Given the description of an element on the screen output the (x, y) to click on. 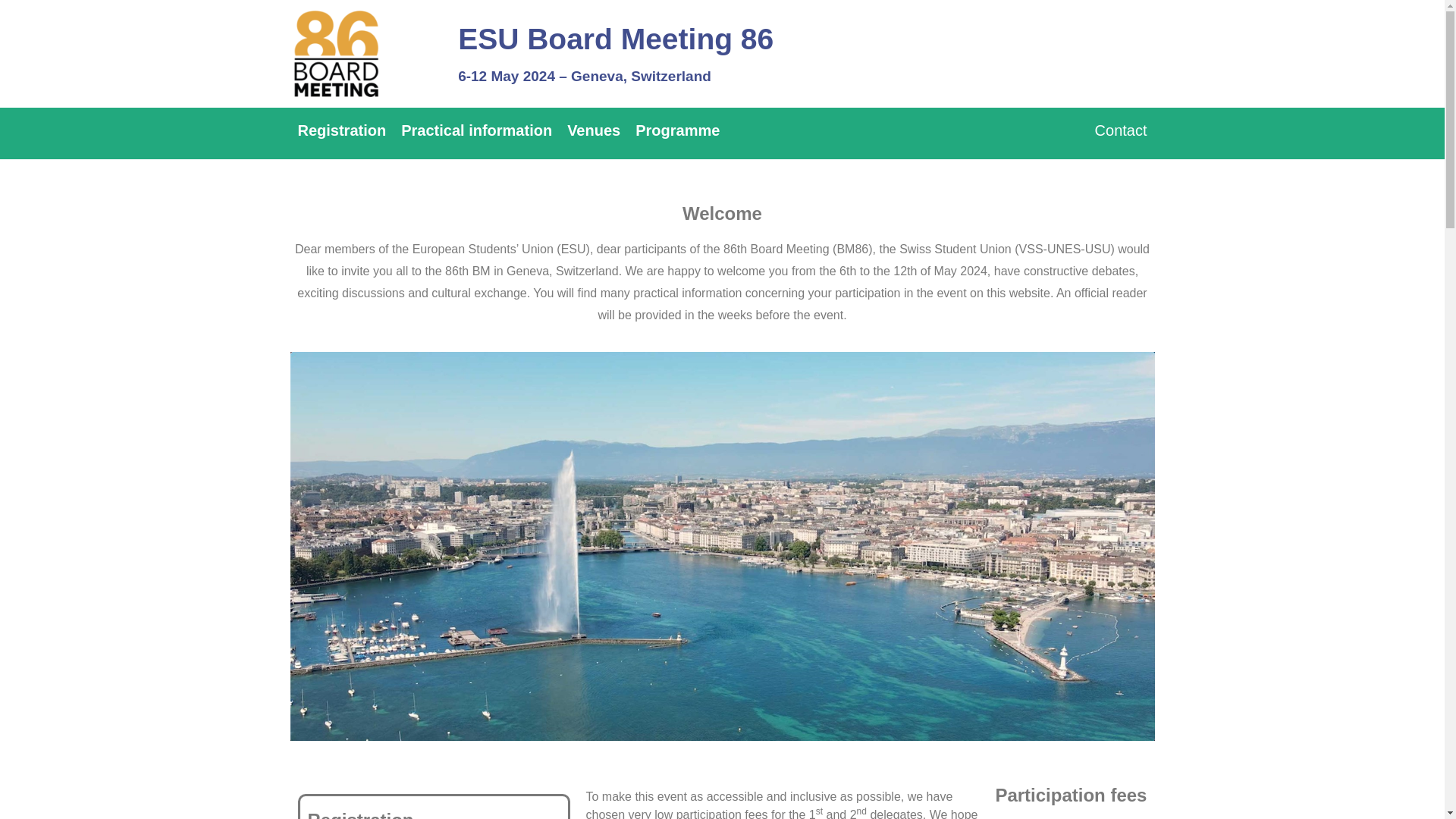
Venues (593, 130)
Practical information (476, 130)
Contact (1120, 130)
Registration (341, 130)
Programme (676, 130)
